Given the description of an element on the screen output the (x, y) to click on. 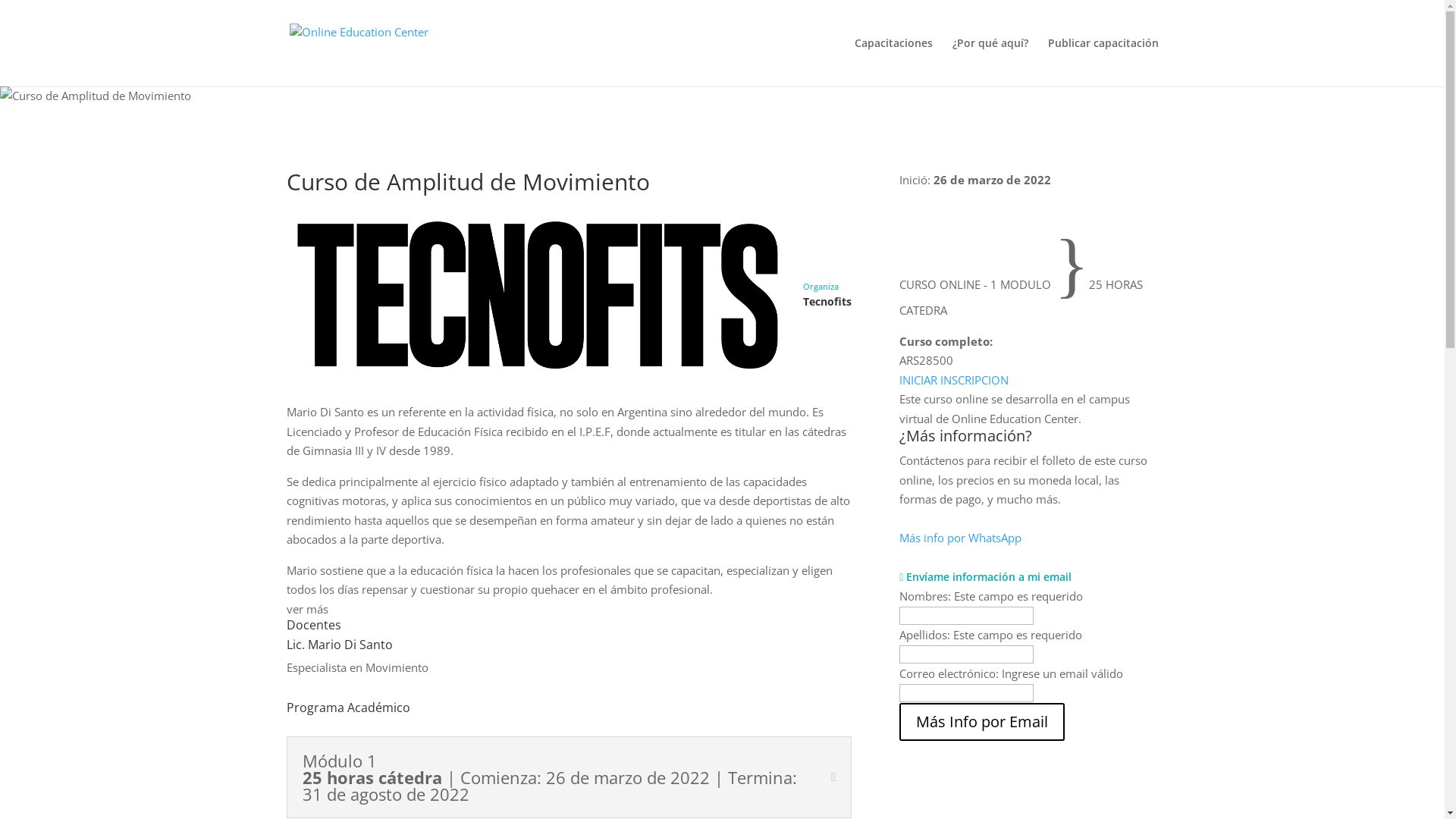
Tecnofits Element type: hover (538, 292)
Capacitaciones Element type: text (892, 61)
INICIAR INSCRIPCION Element type: text (953, 378)
Curso de Amplitud de Movimiento Element type: hover (95, 96)
INSCRIPCIONES ABIERTAS Element type: text (970, 198)
